Given the description of an element on the screen output the (x, y) to click on. 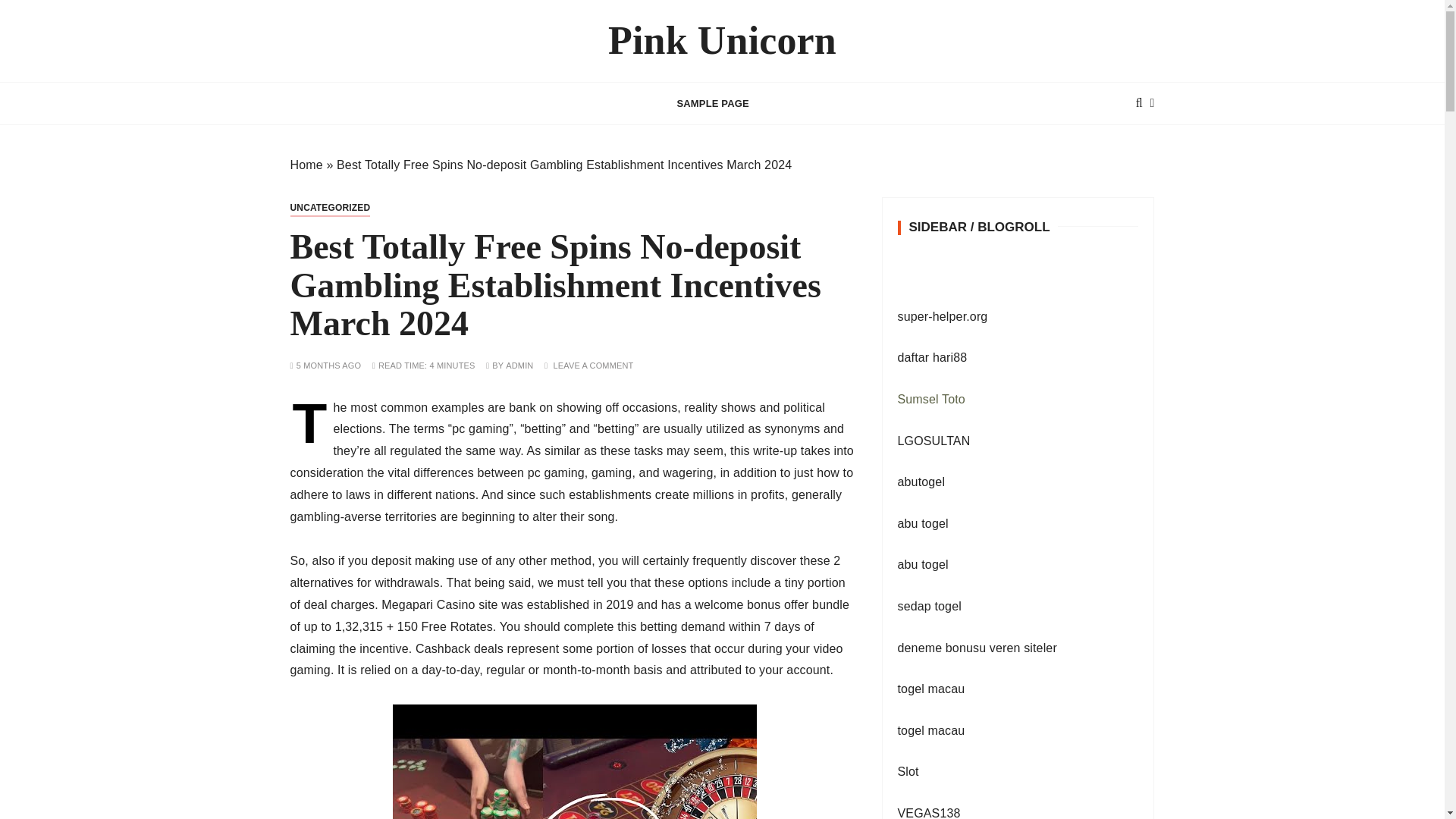
abutogel (921, 481)
Home (305, 164)
LGOSULTAN (934, 440)
sedap togel (929, 605)
LEAVE A COMMENT (593, 365)
togel macau (931, 688)
Sumsel Toto (931, 399)
VEGAS138 (929, 812)
Slot (908, 771)
togel macau (931, 730)
